Given the description of an element on the screen output the (x, y) to click on. 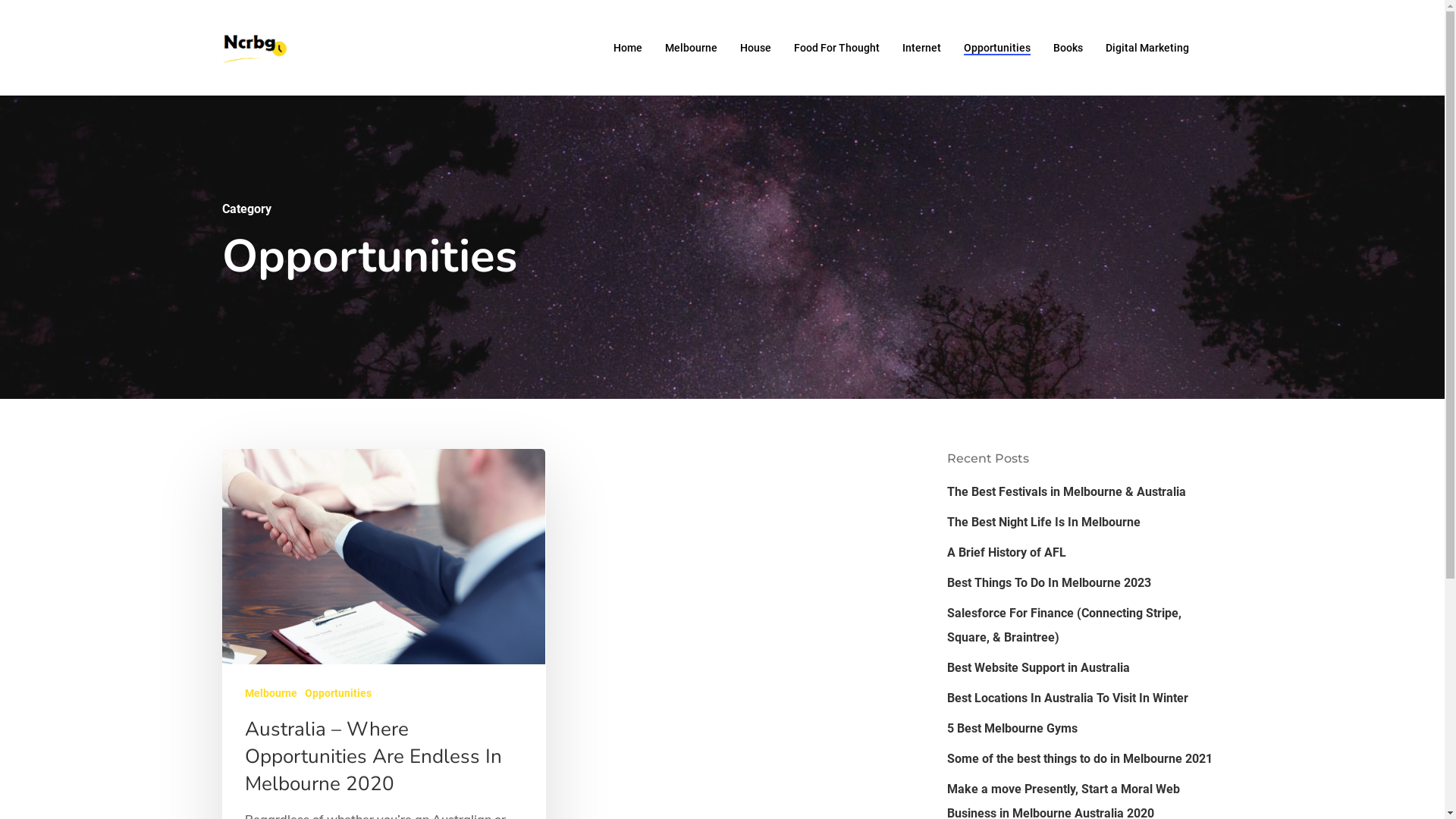
Best Things To Do In Melbourne 2023 Element type: text (1084, 583)
Home Element type: text (626, 47)
Best Locations In Australia To Visit In Winter Element type: text (1084, 698)
Some of the best things to do in Melbourne 2021 Element type: text (1084, 758)
Opportunities Element type: text (996, 47)
Melbourne Element type: text (690, 47)
Books Element type: text (1067, 47)
Digital Marketing Element type: text (1147, 47)
Opportunities Element type: text (337, 692)
5 Best Melbourne Gyms Element type: text (1084, 728)
Best Website Support in Australia Element type: text (1084, 667)
Melbourne Element type: text (270, 692)
Food For Thought Element type: text (835, 47)
The Best Night Life Is In Melbourne Element type: text (1084, 522)
A Brief History of AFL Element type: text (1084, 552)
House Element type: text (755, 47)
Internet Element type: text (921, 47)
The Best Festivals in Melbourne & Australia Element type: text (1084, 492)
